Given the description of an element on the screen output the (x, y) to click on. 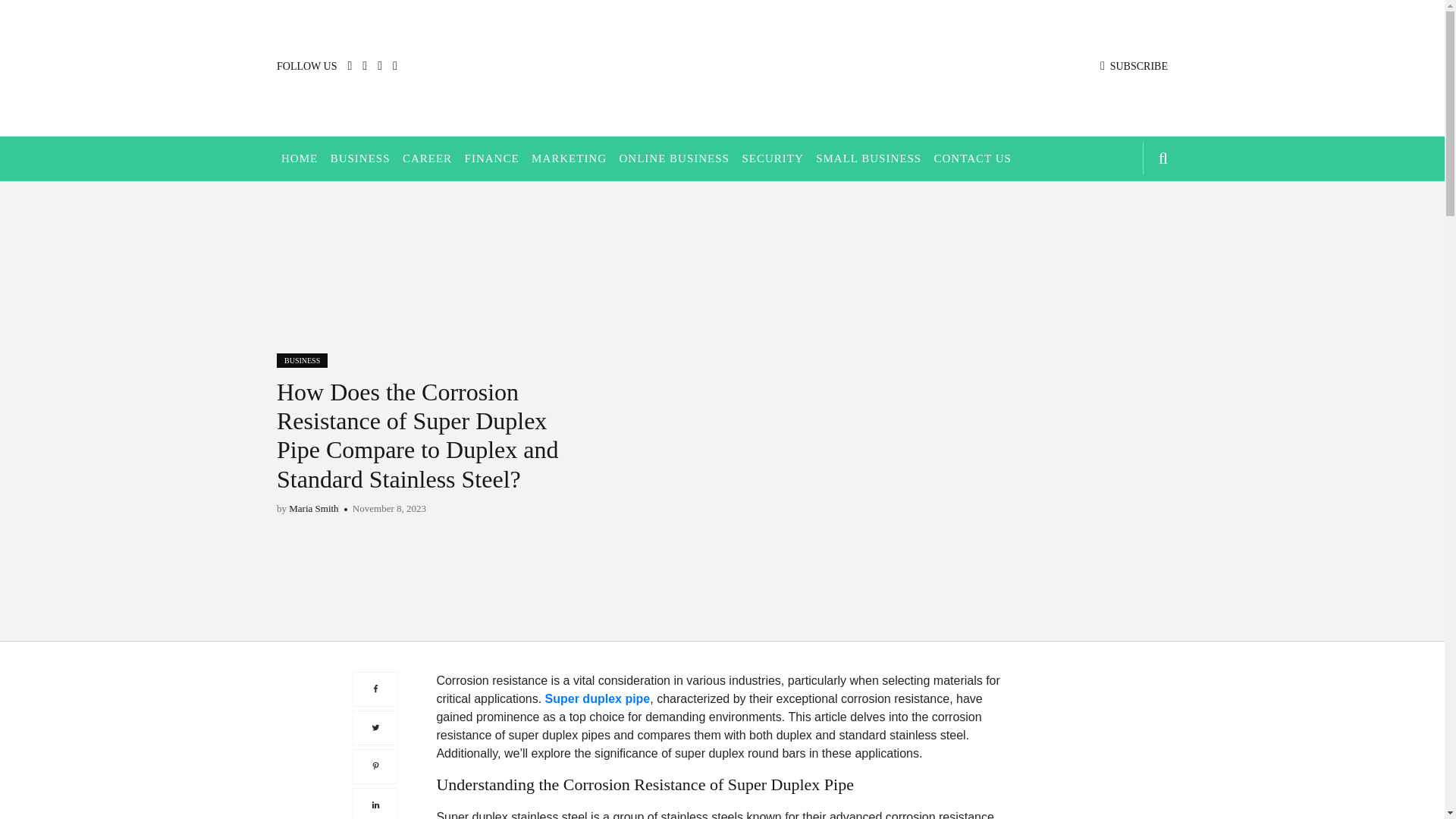
Share on LinkedIn (374, 803)
SMALL BUSINESS (868, 158)
Share on Facebook (374, 688)
CAREER (427, 158)
SUBSCRIBE (1133, 66)
Super duplex pipe (597, 697)
HOME (298, 158)
SECURITY (772, 158)
CONTACT US (973, 158)
FINANCE (492, 158)
Share on Pinterest (374, 766)
MARKETING (569, 158)
ONLINE BUSINESS (673, 158)
Share on Twitter (374, 727)
BUSINESS (360, 158)
